Given the description of an element on the screen output the (x, y) to click on. 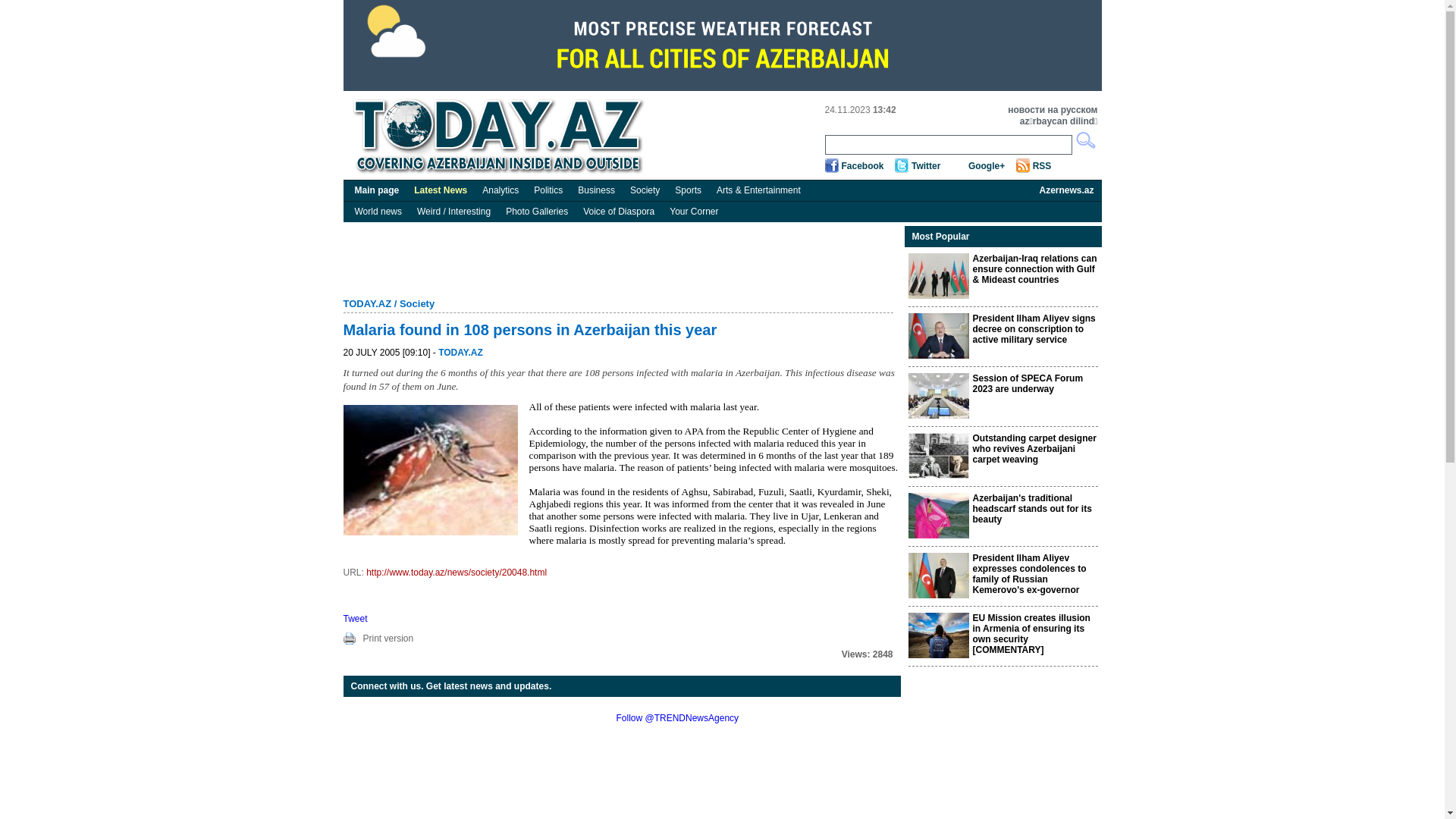
Society Element type: text (416, 303)
Photo Galleries Element type: text (536, 211)
Business Element type: text (596, 190)
3rd party ad content Element type: hover (721, 45)
Twitter Element type: text (925, 165)
World news Element type: text (378, 211)
Tweet Element type: text (354, 618)
TODAY.AZ Element type: text (366, 303)
Azerbaijan's traditional headscarf stands out for its beauty Element type: text (1031, 508)
Your Corner Element type: text (693, 211)
Facebook Element type: text (862, 165)
Main page Element type: text (377, 190)
Voice of Diaspora Element type: text (618, 211)
Today.az Element type: hover (501, 136)
Azernews.az Element type: text (1066, 190)
Analytics Element type: text (500, 190)
Session of SPECA Forum 2023 are underway Element type: text (1027, 383)
Google+ Element type: text (986, 165)
Politics Element type: text (548, 190)
http://www.today.az/news/society/20048.html Element type: text (456, 572)
Latest News Element type: text (440, 190)
Sports Element type: text (688, 190)
Print version Element type: text (387, 638)
TODAY.AZ Element type: text (460, 352)
RSS Element type: text (1041, 165)
Weird / Interesting Element type: text (453, 211)
Arts & Entertainment Element type: text (758, 190)
Follow @TRENDNewsAgency Element type: text (676, 717)
Society Element type: text (644, 190)
